Given the description of an element on the screen output the (x, y) to click on. 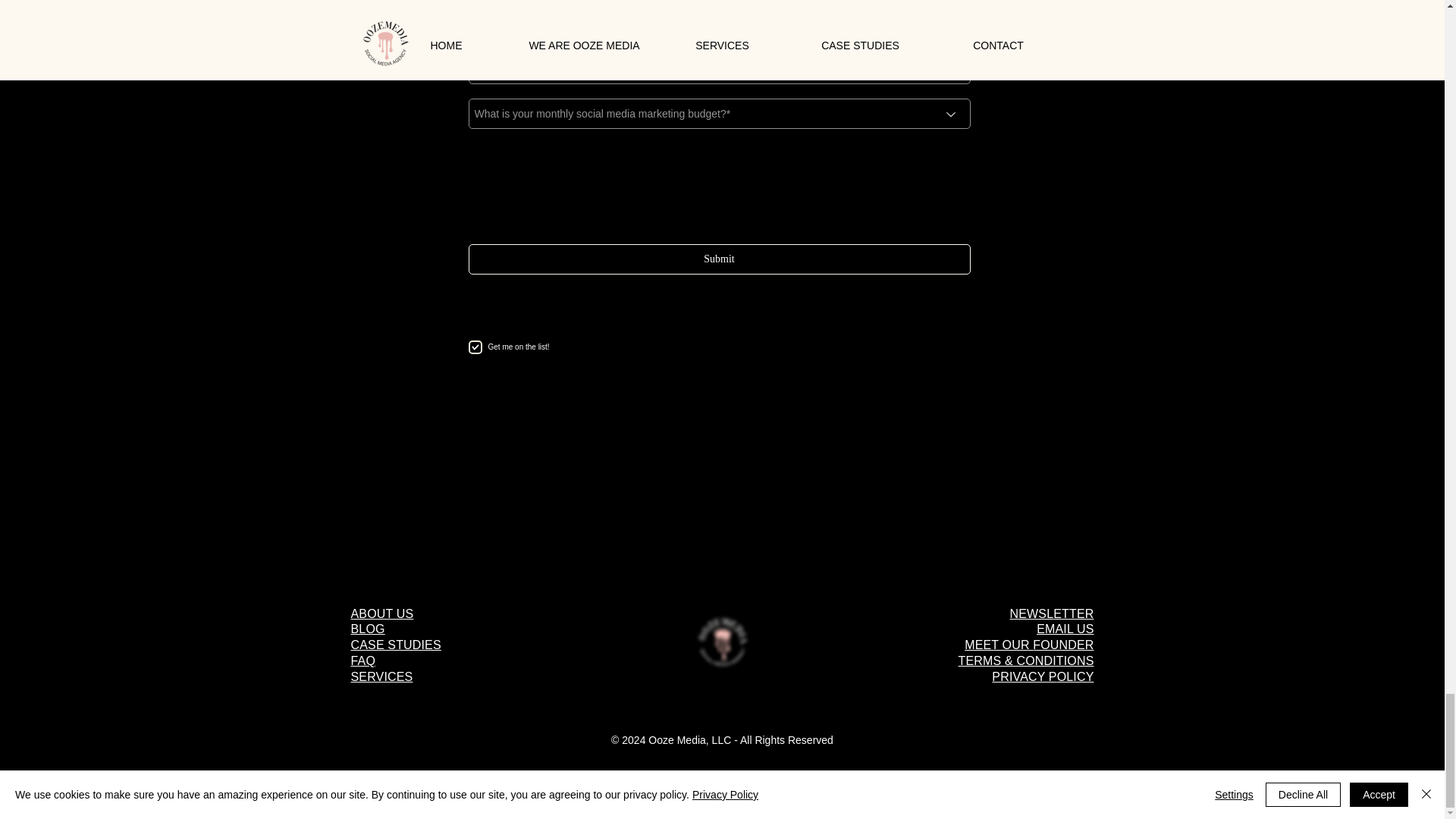
Submit (719, 259)
SERVICES (381, 676)
CASE STUDIES (395, 644)
FAQ (362, 660)
NEWSLETTER (1052, 613)
ABOUT US (381, 613)
EMAIL US (1064, 628)
BLOG (367, 628)
